Given the description of an element on the screen output the (x, y) to click on. 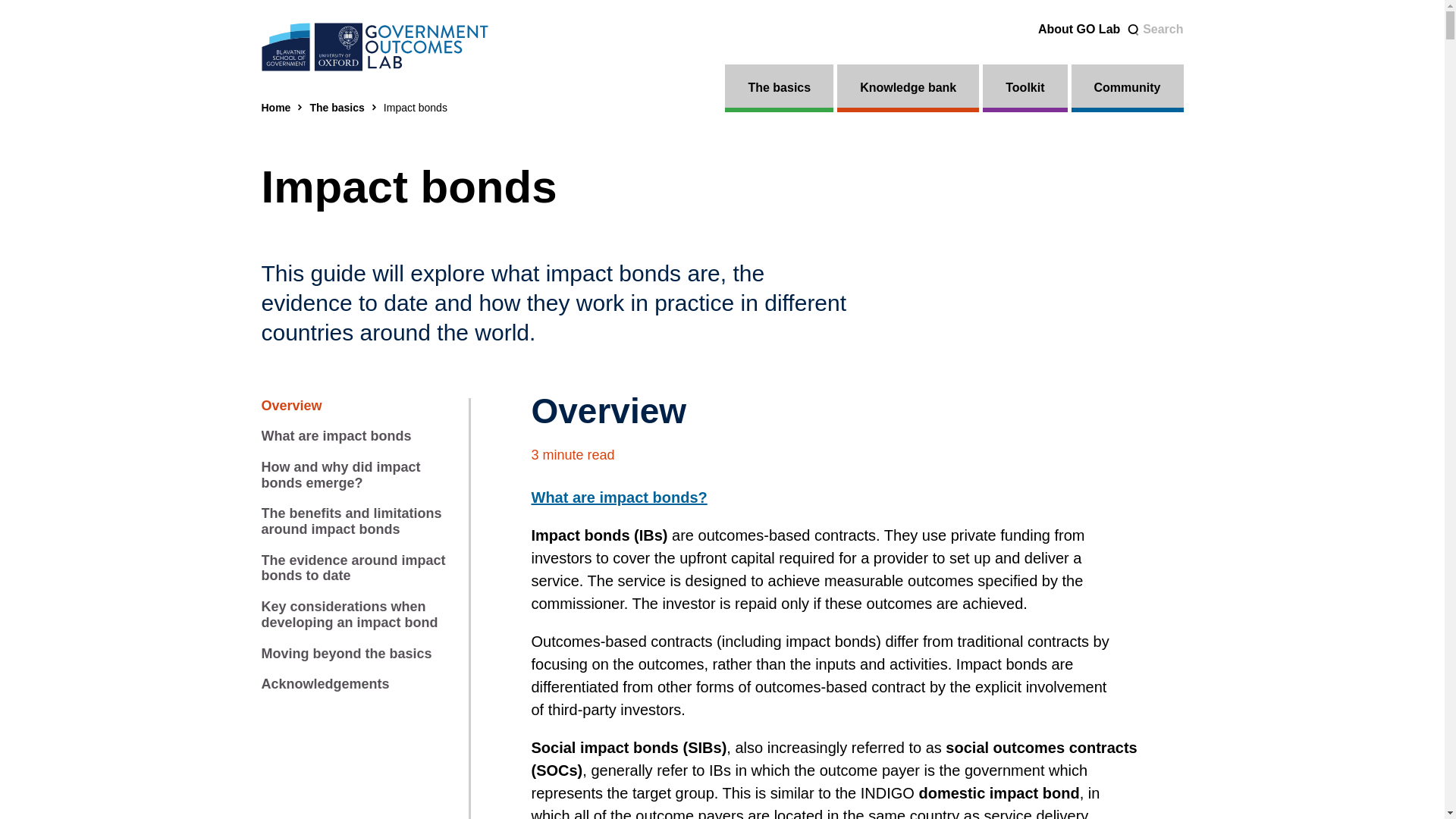
Home (274, 107)
The basics (336, 107)
Home (274, 107)
Search (1154, 30)
GO-Lab-Logo Created with Sketch. (373, 46)
Community (1126, 88)
GO-Lab-Logo Created with Sketch. (373, 46)
Knowledge bank (908, 88)
The basics (779, 88)
The basics (336, 107)
